Given the description of an element on the screen output the (x, y) to click on. 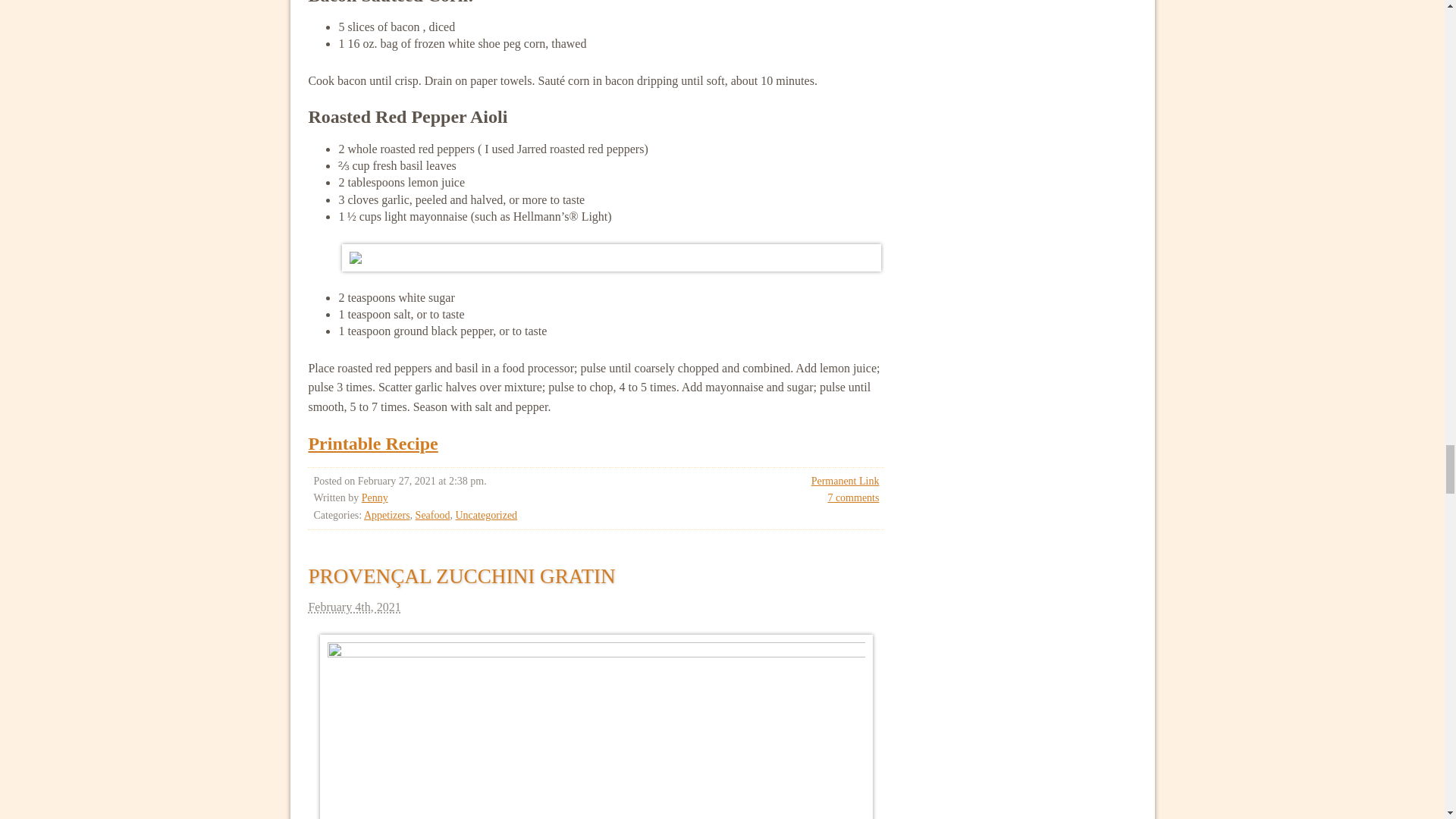
2021-02-04T10:50:43-05:00 (595, 606)
